Given the description of an element on the screen output the (x, y) to click on. 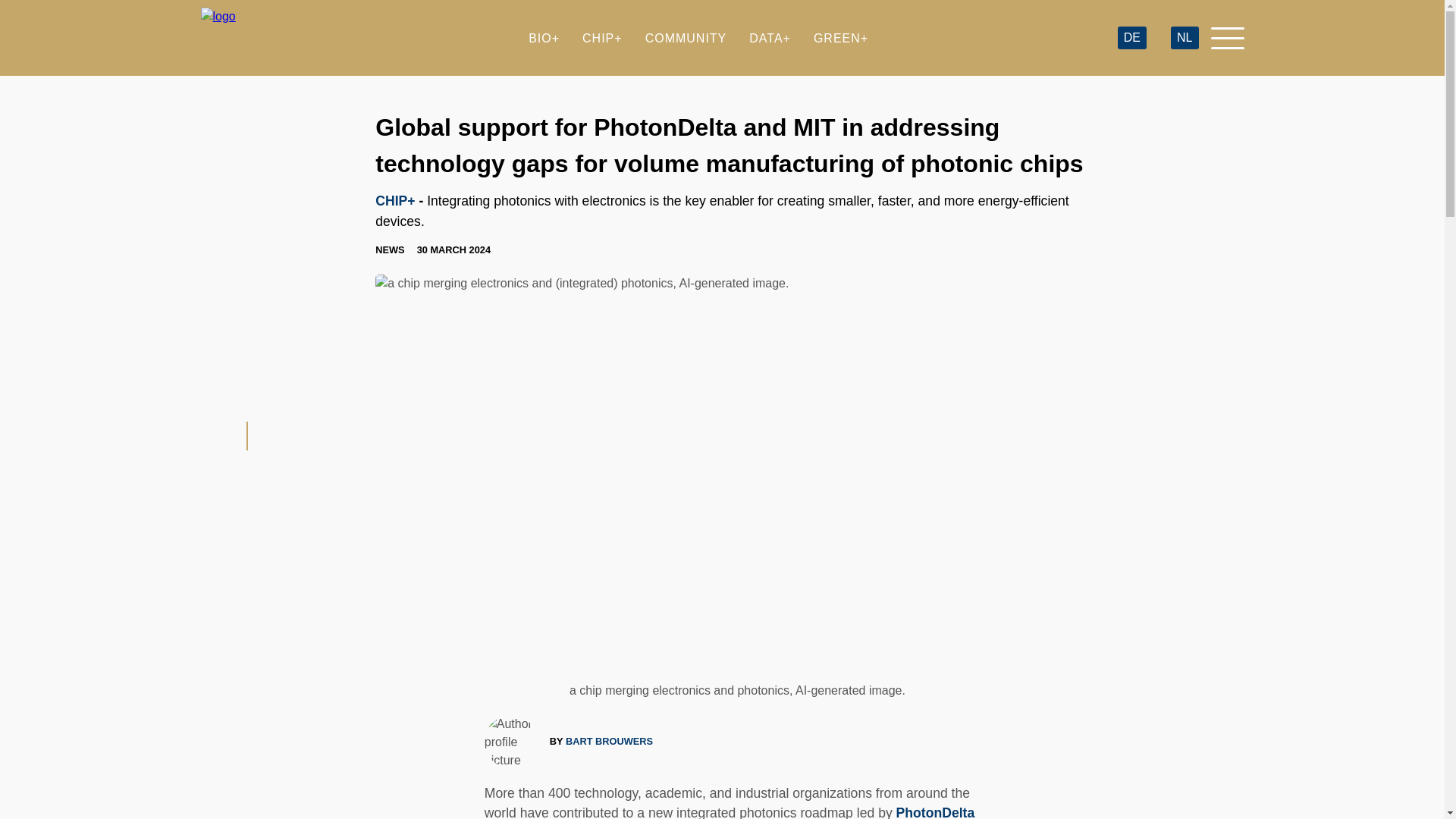
COMMUNITY (685, 38)
NL (1184, 37)
DE (1132, 37)
PhotonDelta (935, 811)
BART BROUWERS (609, 740)
